Given the description of an element on the screen output the (x, y) to click on. 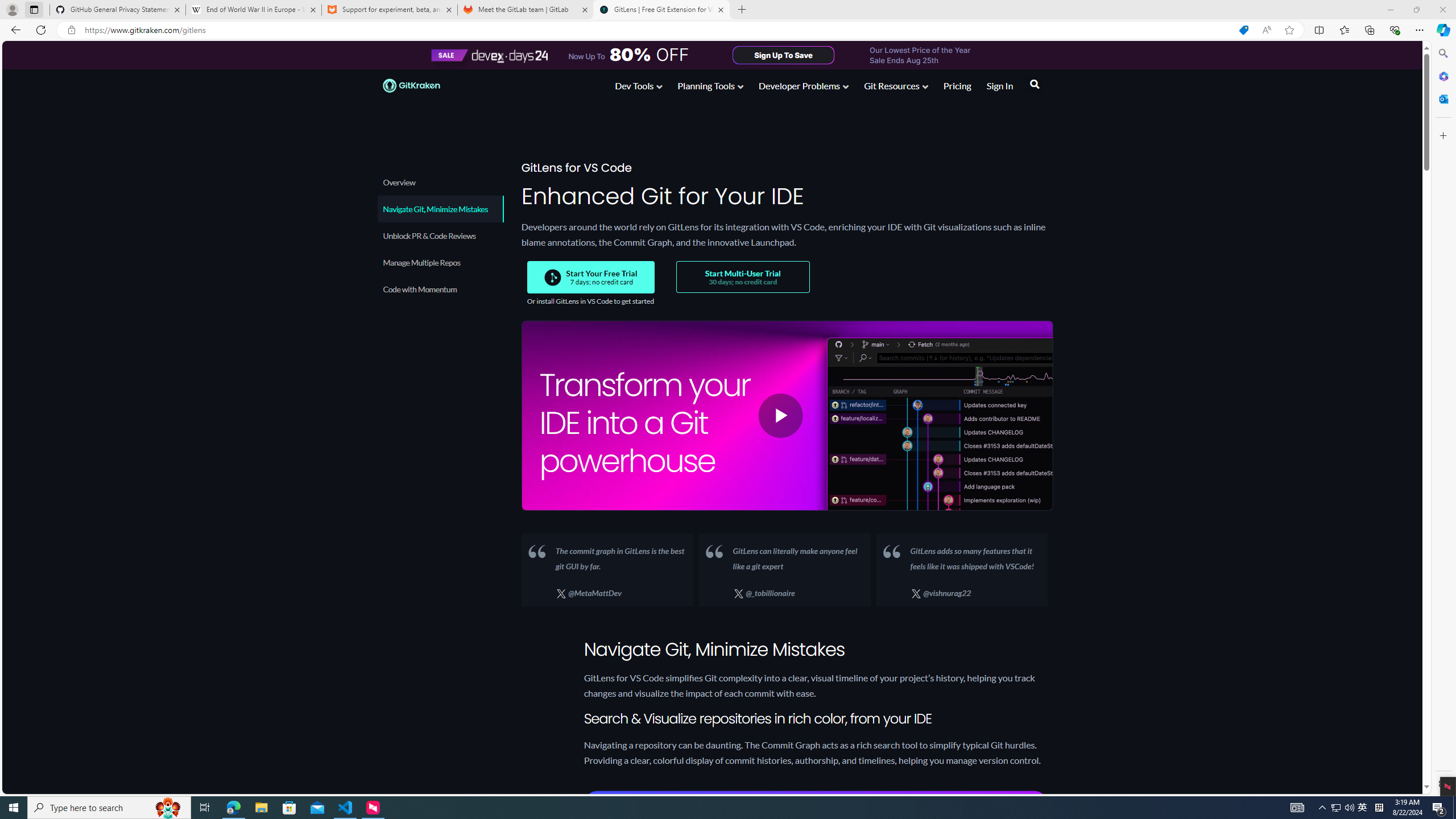
Or install GitLens in VS Code to get started (590, 300)
